Given the description of an element on the screen output the (x, y) to click on. 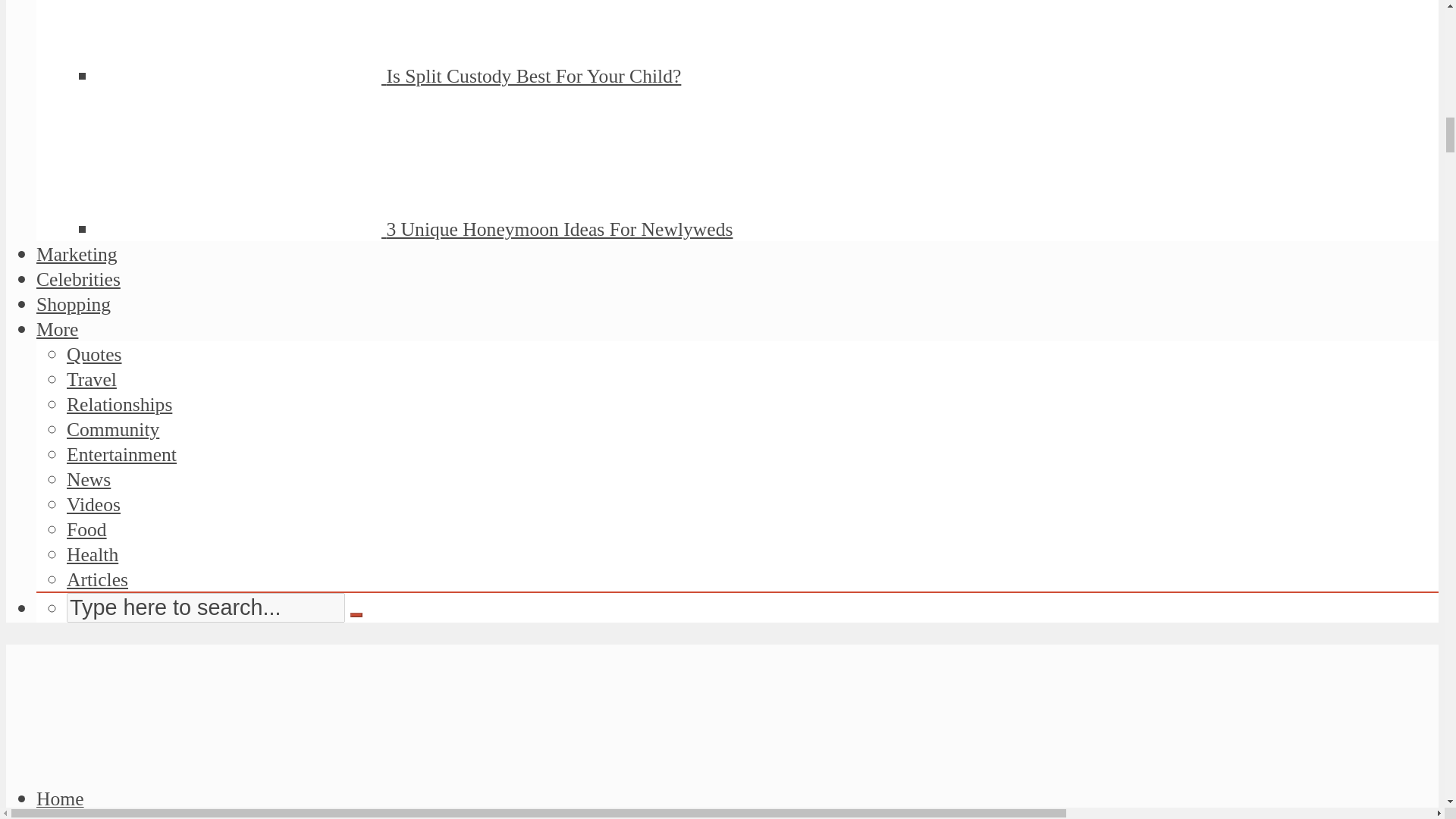
Type here to search... (205, 607)
Is Split Custody Best For Your Child? (533, 75)
Type here to search... (205, 607)
